Given the description of an element on the screen output the (x, y) to click on. 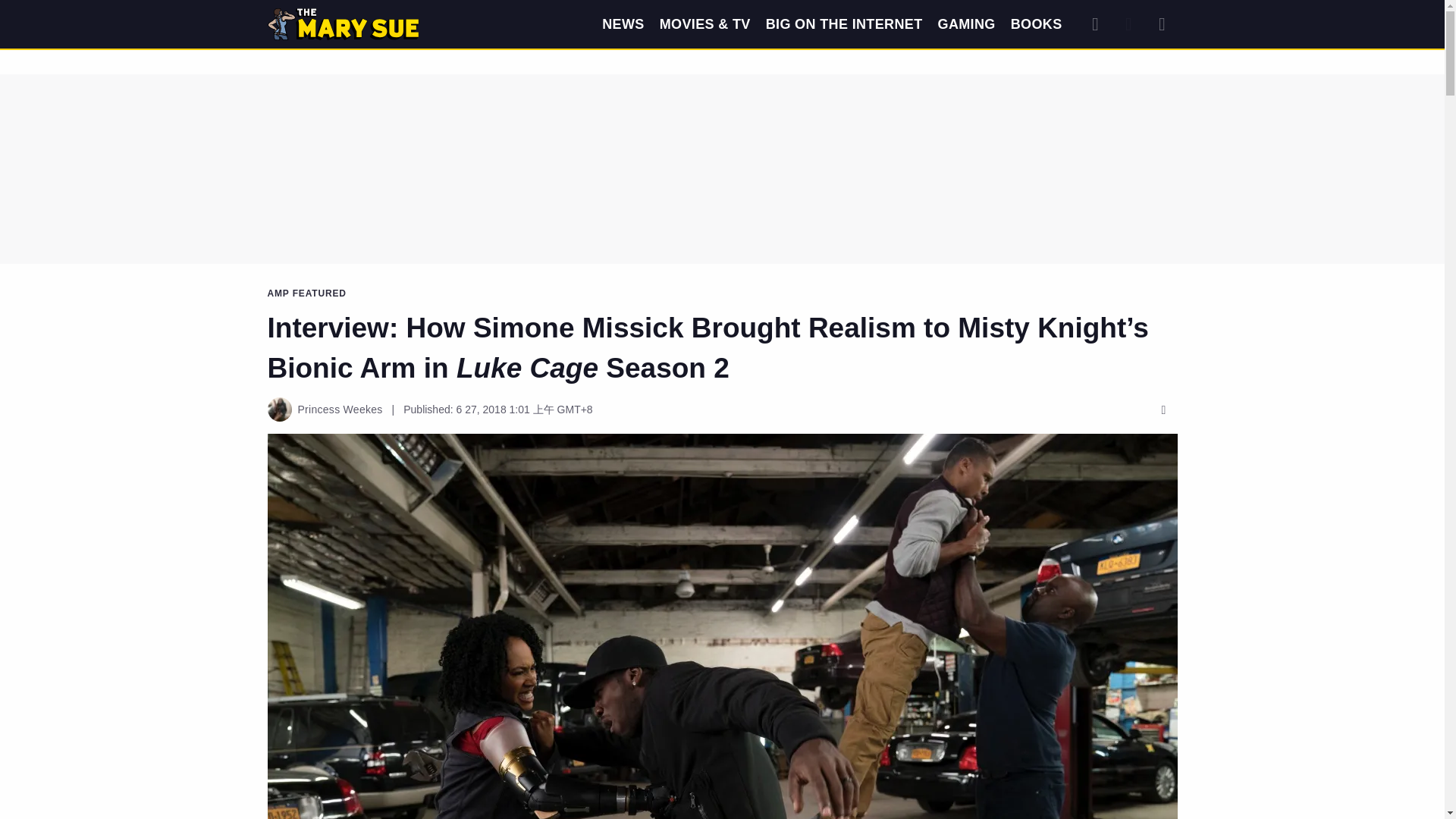
Dark Mode (1127, 24)
BIG ON THE INTERNET (844, 23)
Expand Menu (1161, 24)
BOOKS (1036, 23)
GAMING (966, 23)
Search (1094, 24)
NEWS (622, 23)
